Given the description of an element on the screen output the (x, y) to click on. 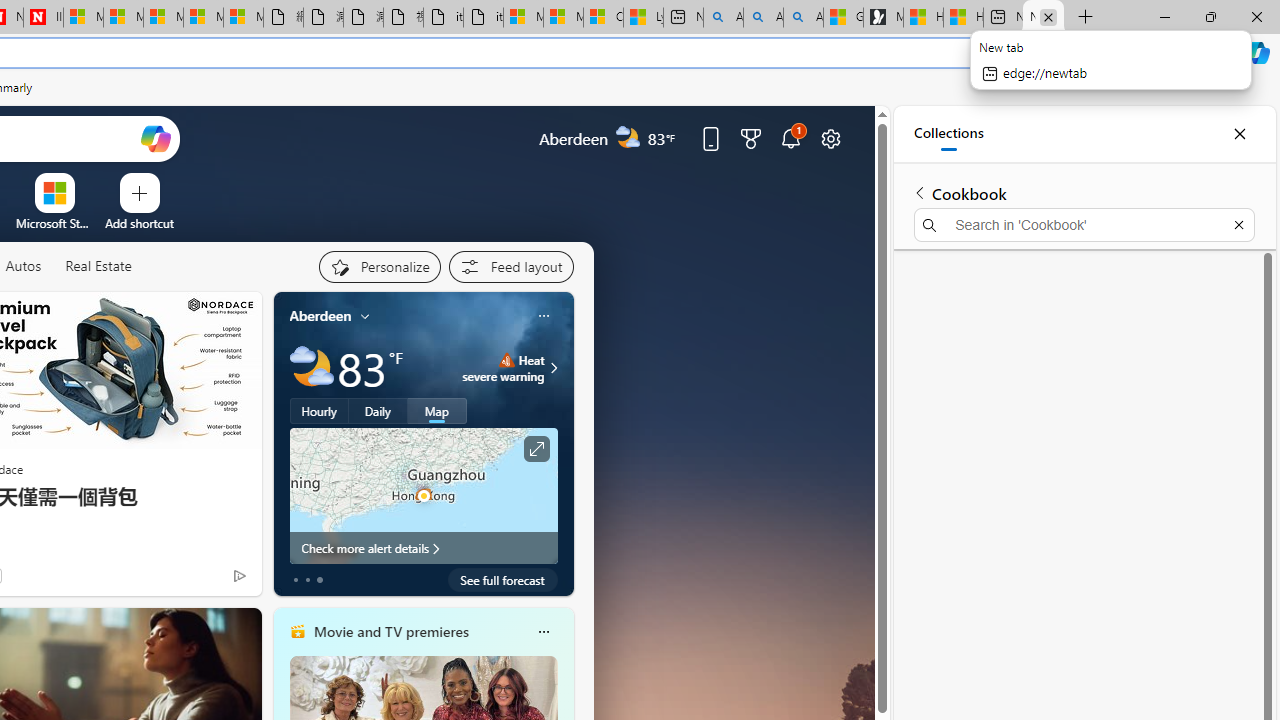
Alabama high school quarterback dies - Search (723, 17)
Heat - Severe (505, 359)
tab-1 (306, 579)
Partly cloudy (311, 368)
Autos (22, 265)
Notifications (790, 138)
Class: icon-img (543, 632)
Real Estate (98, 265)
Personalize your feed" (379, 266)
My location (365, 315)
